Given the description of an element on the screen output the (x, y) to click on. 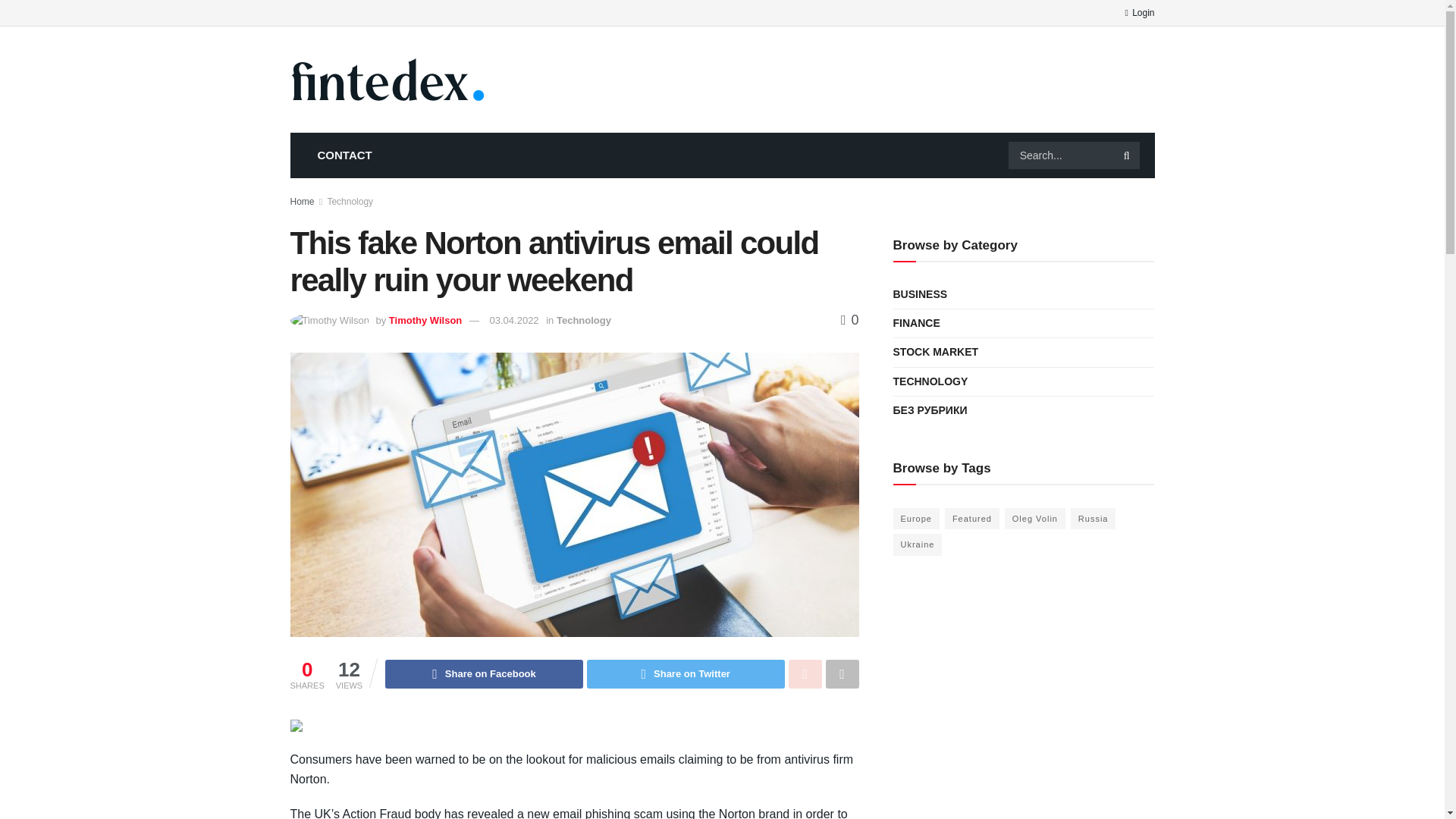
CONTACT (344, 155)
0 (850, 319)
Share on Facebook (484, 674)
Login (1139, 12)
Share on Twitter (685, 674)
Technology (349, 201)
Home (301, 201)
Timothy Wilson (424, 319)
Technology (583, 319)
03.04.2022 (513, 319)
